Given the description of an element on the screen output the (x, y) to click on. 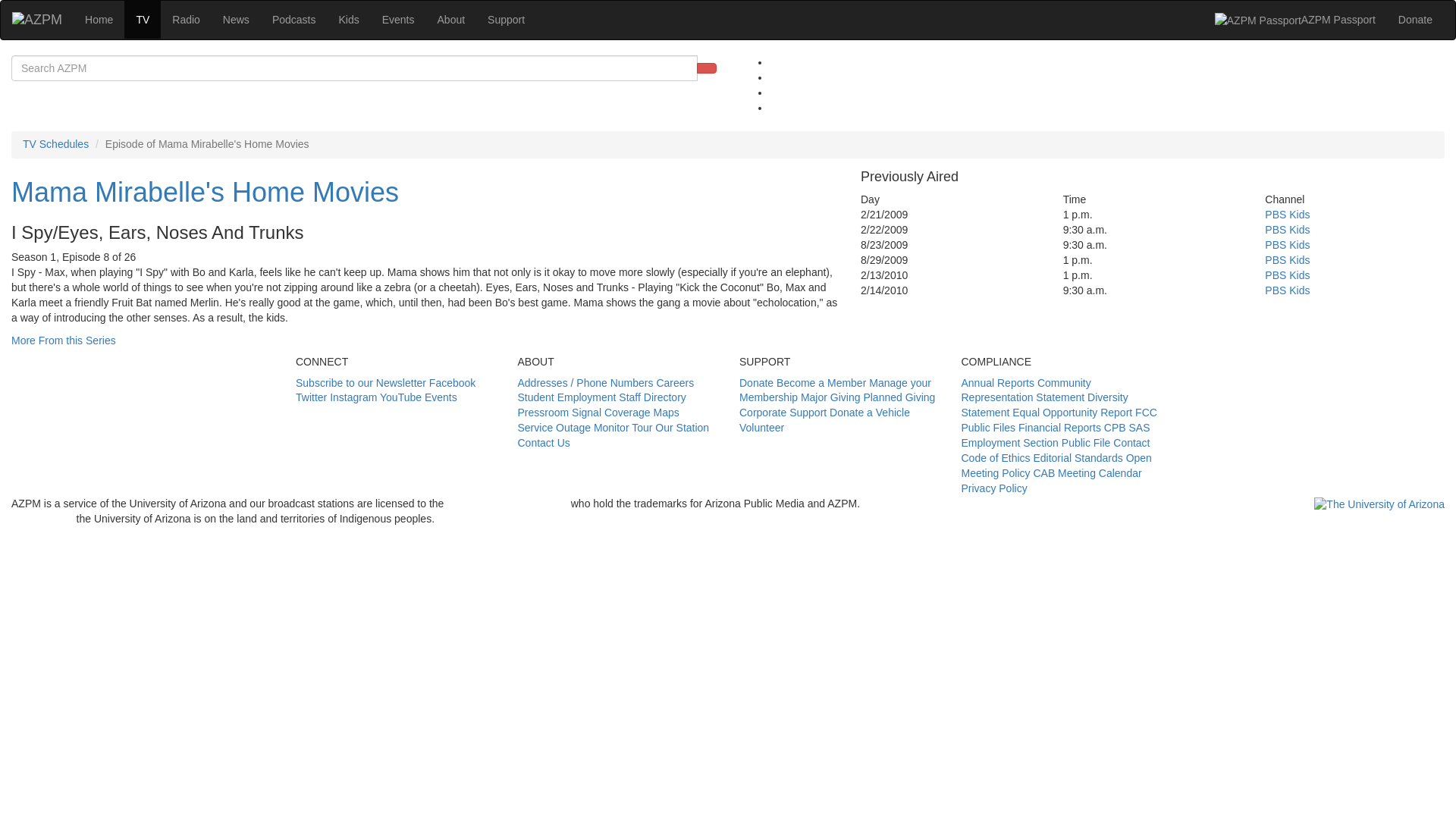
Kids (347, 19)
About (451, 19)
Home (98, 19)
News (235, 19)
Podcasts (293, 19)
Radio (185, 19)
TV (141, 19)
Events (398, 19)
